Given the description of an element on the screen output the (x, y) to click on. 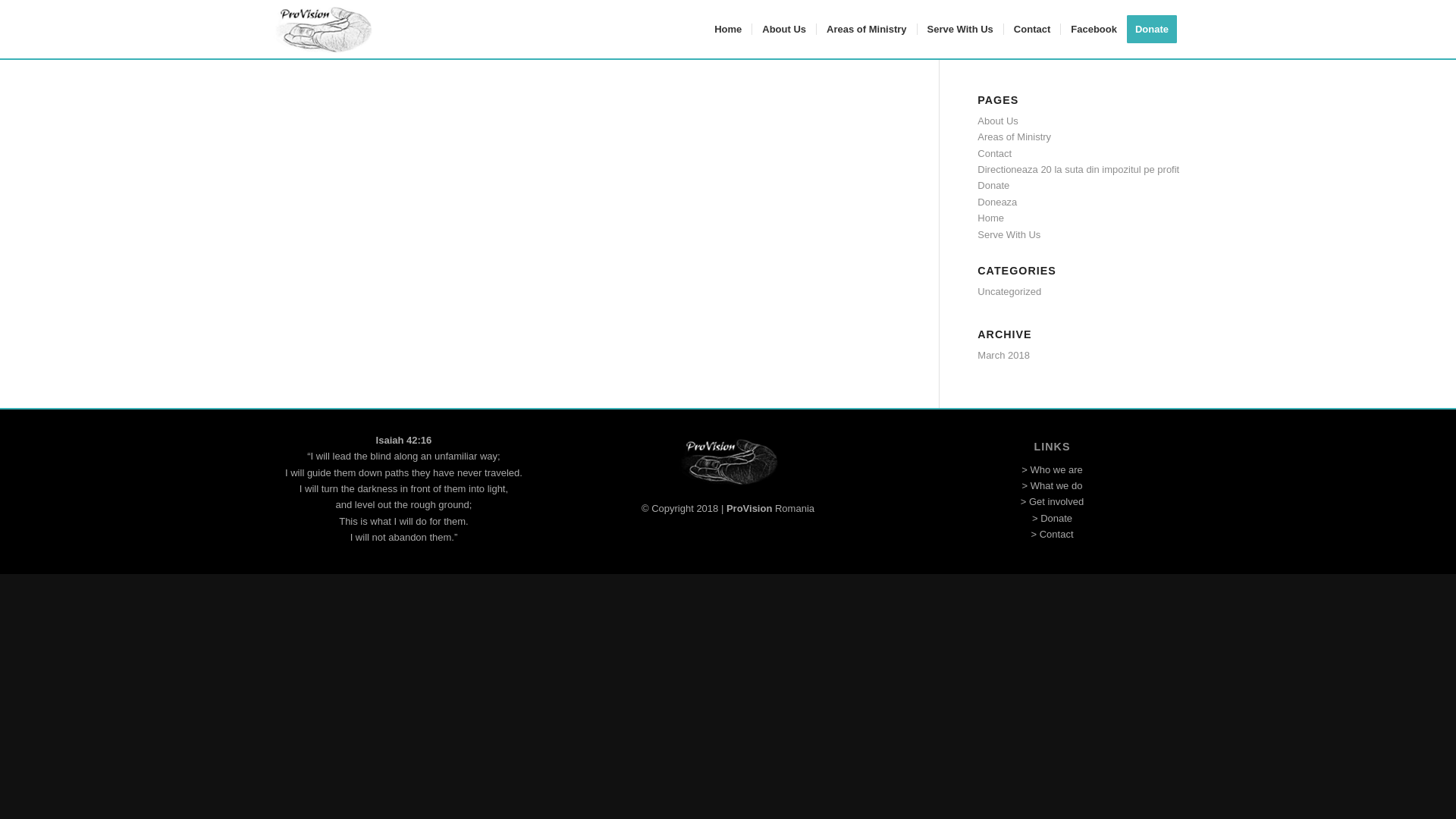
Facebook (1092, 29)
Contact (993, 153)
Serve With Us (960, 29)
Uncategorized (1008, 291)
Directioneaza 20 la suta din impozitul pe profit (1077, 169)
Contact (1031, 29)
About Us (996, 120)
Doneaza (996, 202)
Areas of Ministry (1013, 136)
Serve With Us (1008, 234)
About Us (783, 29)
Home (990, 217)
Areas of Ministry (865, 29)
Donate (992, 184)
Donate (1156, 29)
